Given the description of an element on the screen output the (x, y) to click on. 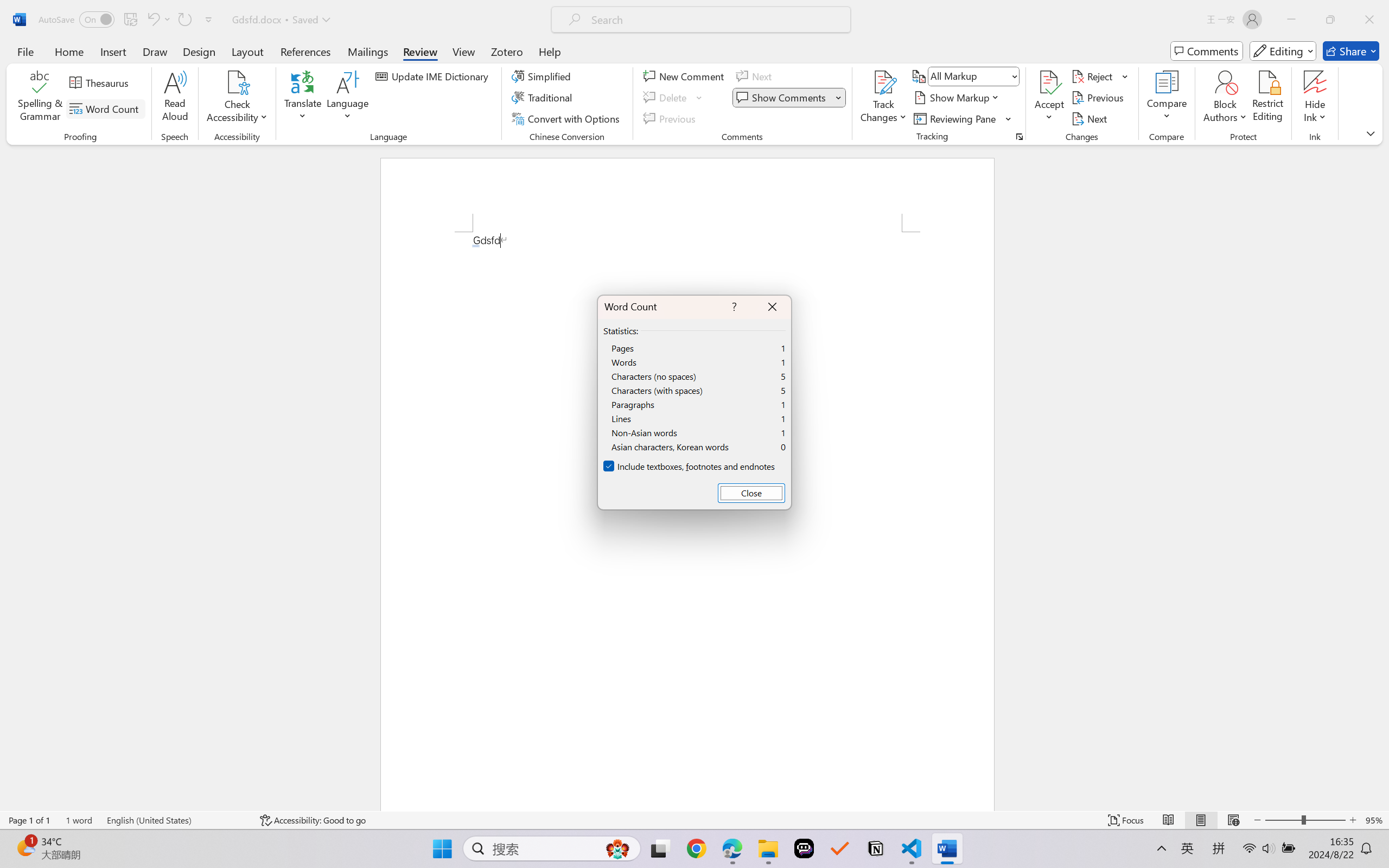
Restrict Editing (1267, 97)
Convert with Options... (567, 118)
